Given the description of an element on the screen output the (x, y) to click on. 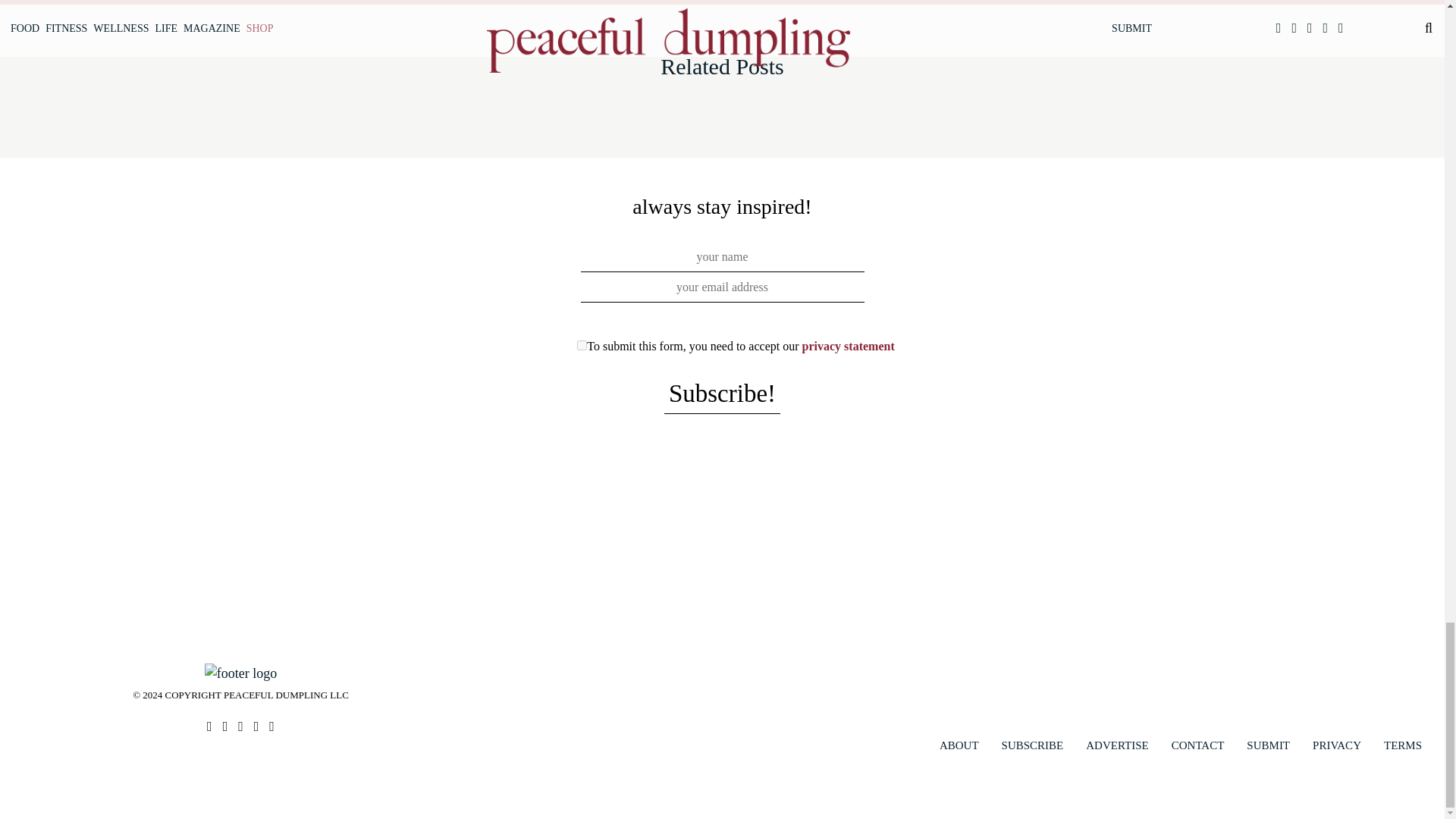
Subscribe! (721, 394)
1 (581, 345)
Peaceful Dumpling (240, 672)
